Given the description of an element on the screen output the (x, y) to click on. 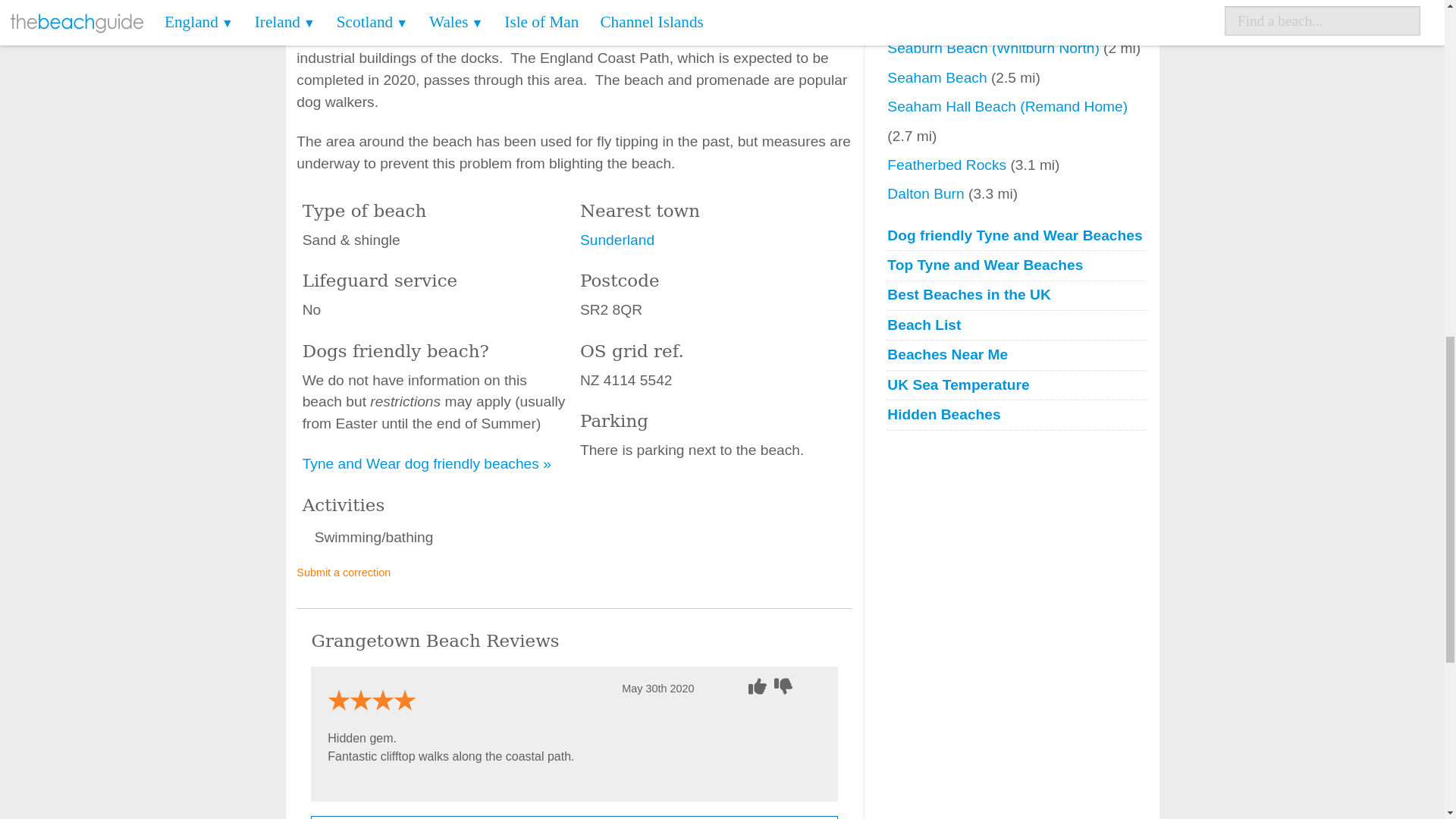
Sunderland (616, 239)
Dalton Burn (927, 193)
Dog friendly Tyne and Wear Beaches (1016, 236)
Seaham Beach (938, 77)
Vote down (785, 686)
Top Tyne and Wear Beaches (1016, 265)
Vote up (759, 686)
Featherbed Rocks (948, 164)
